Given the description of an element on the screen output the (x, y) to click on. 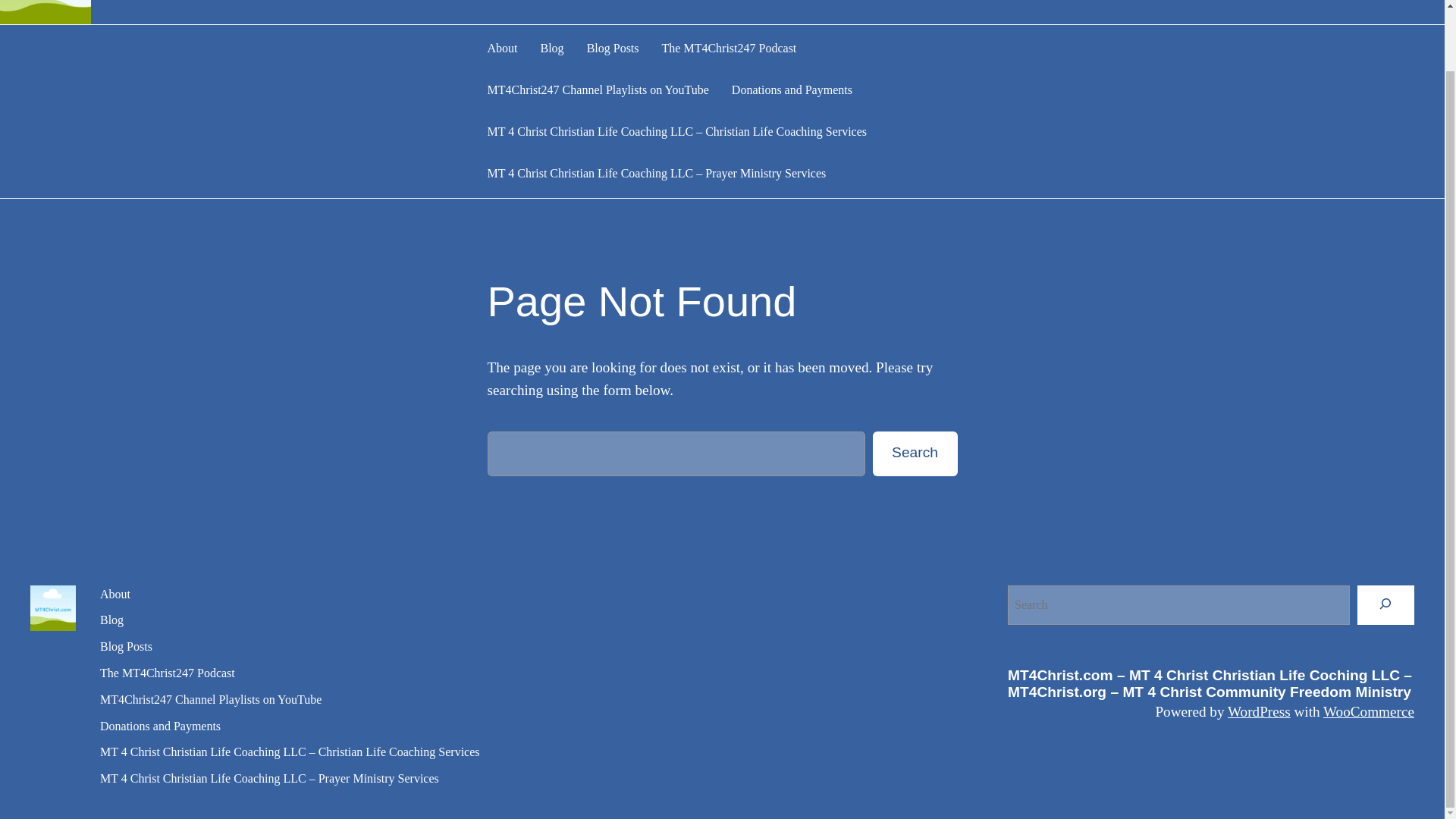
The MT4Christ247 Podcast (167, 673)
Blog (551, 48)
Blog (111, 619)
MT4Christ247 Channel Playlists on YouTube (210, 700)
Donations and Payments (791, 90)
Blog Posts (612, 48)
Donations and Payments (160, 726)
Blog Posts (126, 647)
Search (915, 453)
WordPress (1258, 711)
